Given the description of an element on the screen output the (x, y) to click on. 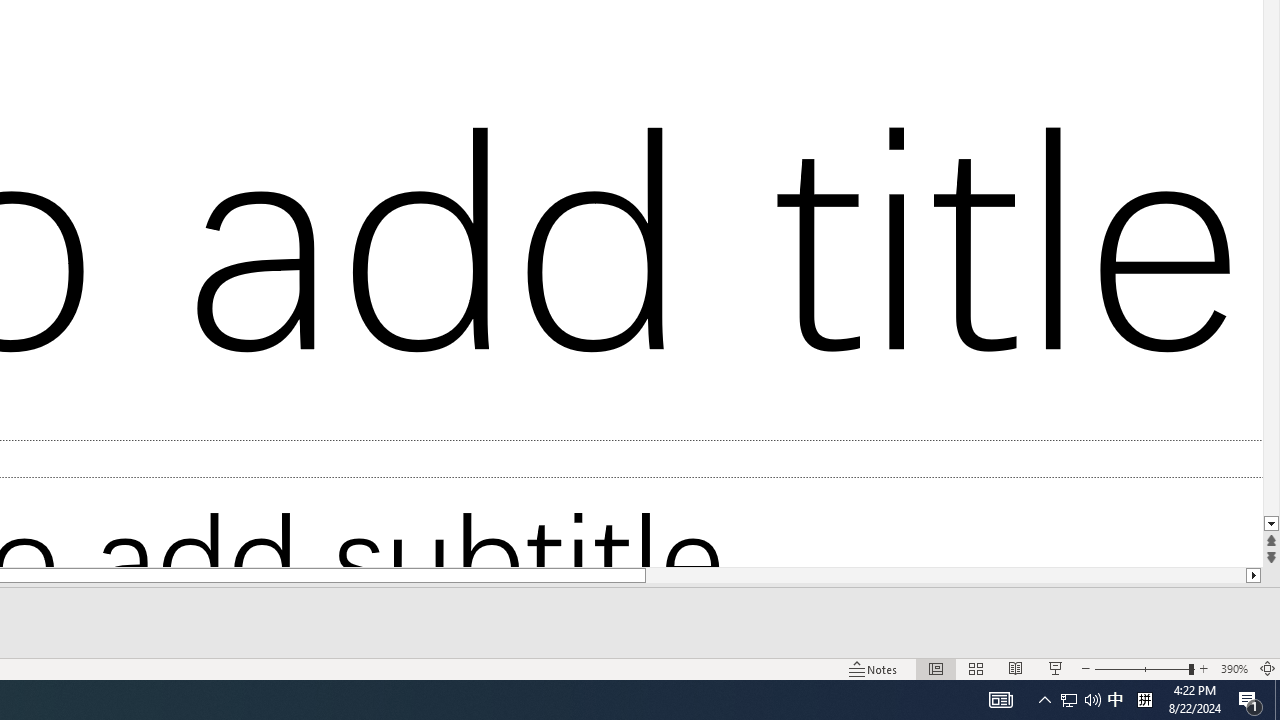
Poe (201, 687)
Line spacing: (98, 22)
At: (248, 22)
Zoom 95% (1249, 640)
Cancel (248, 309)
Notion (333, 687)
